Given the description of an element on the screen output the (x, y) to click on. 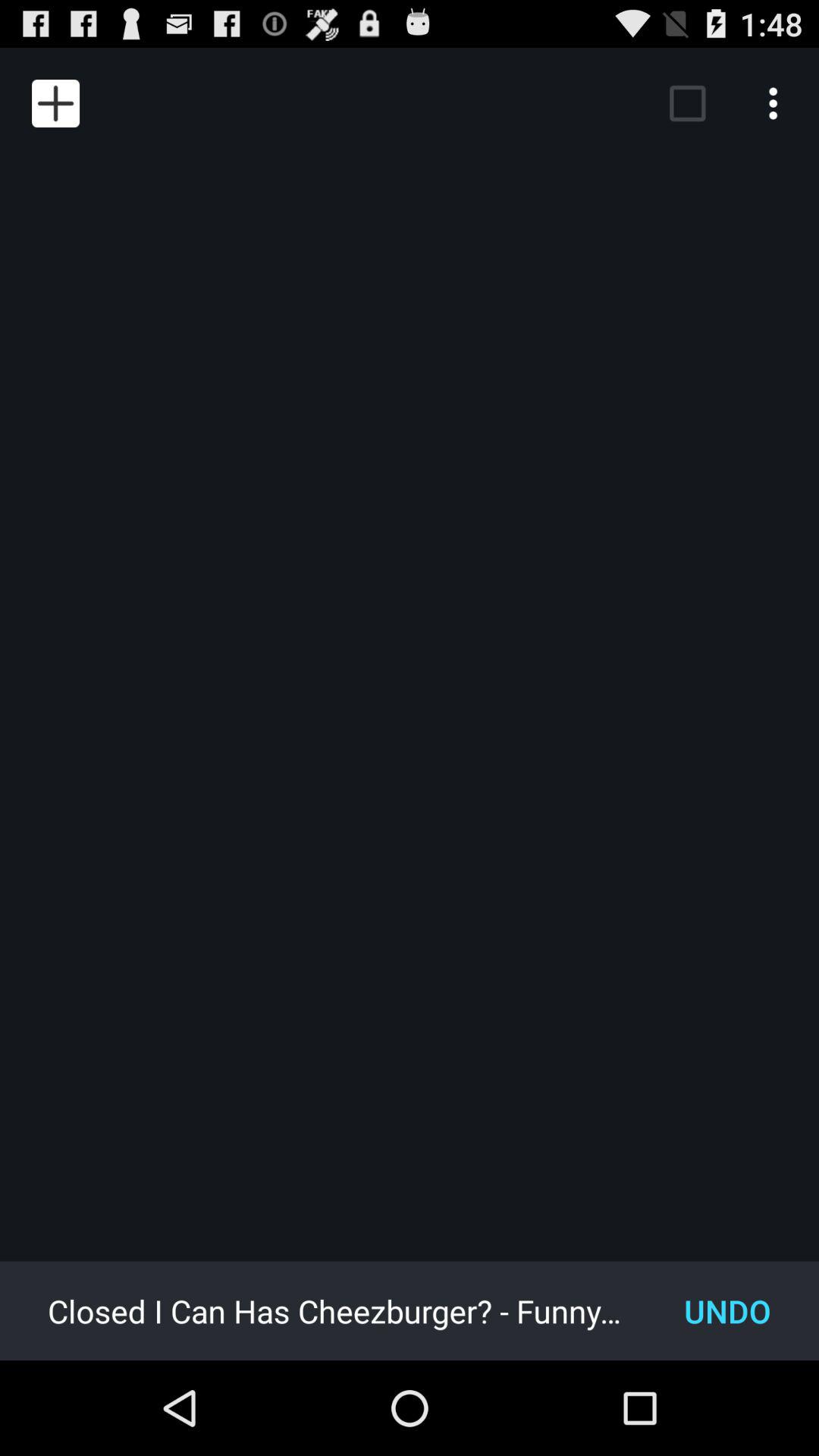
launch the item to the right of the closed i can item (727, 1310)
